Given the description of an element on the screen output the (x, y) to click on. 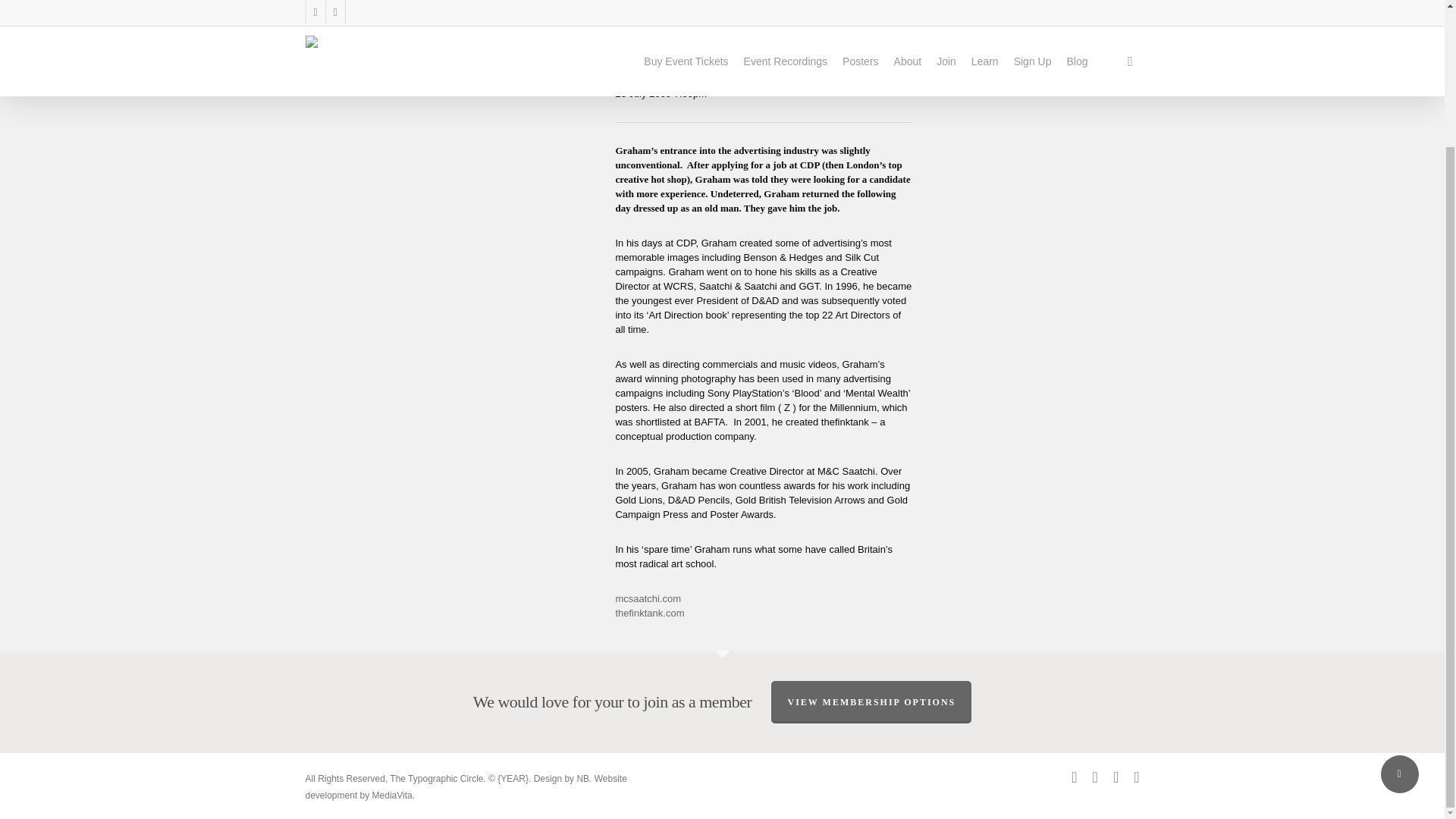
NB (582, 778)
MediaVita (392, 795)
VIEW MEMBERSHIP OPTIONS (871, 701)
mcsaatchi.com (647, 598)
thefinktank.com (649, 613)
